Given the description of an element on the screen output the (x, y) to click on. 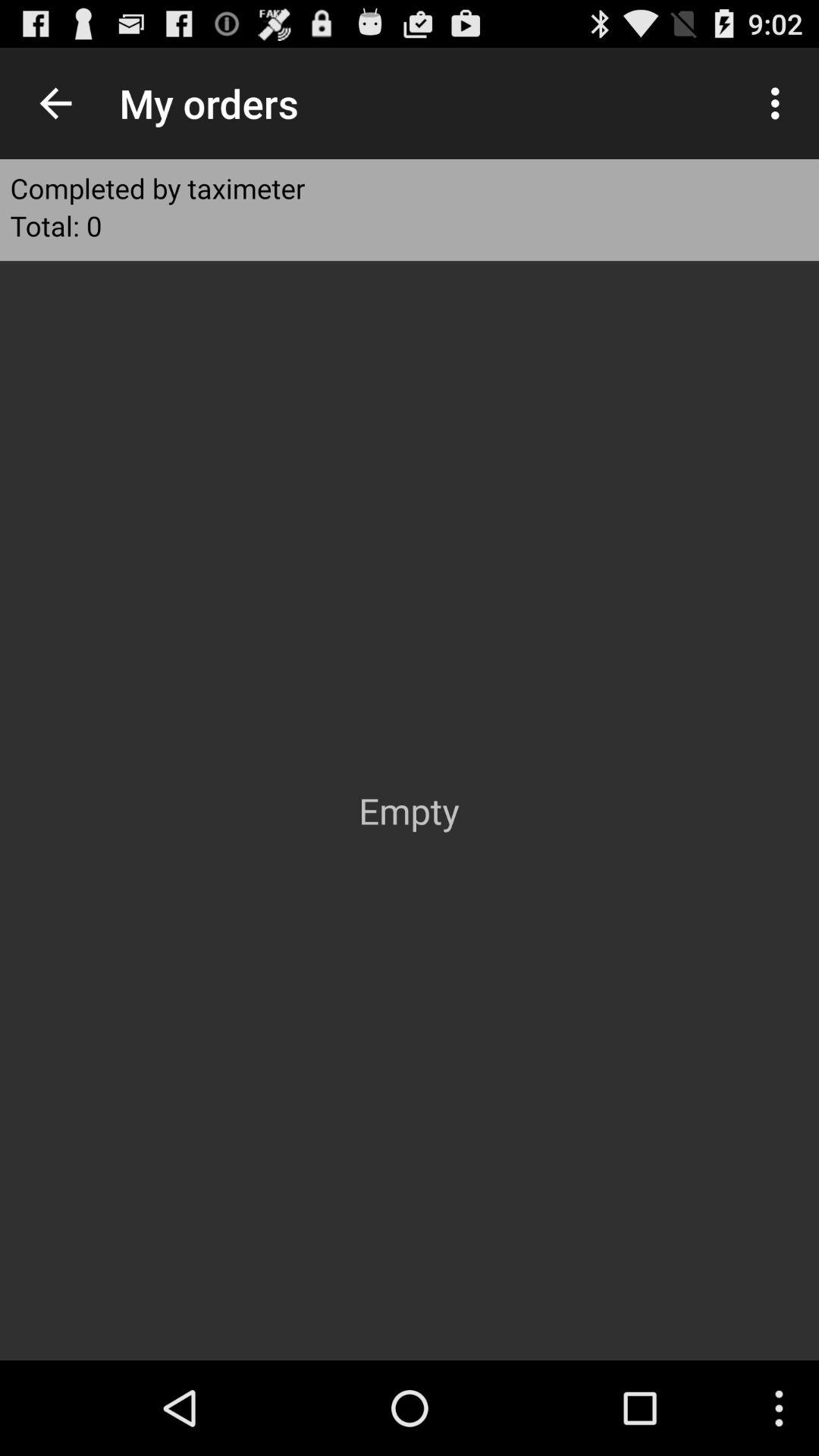
turn on the icon next to my orders (55, 103)
